Given the description of an element on the screen output the (x, y) to click on. 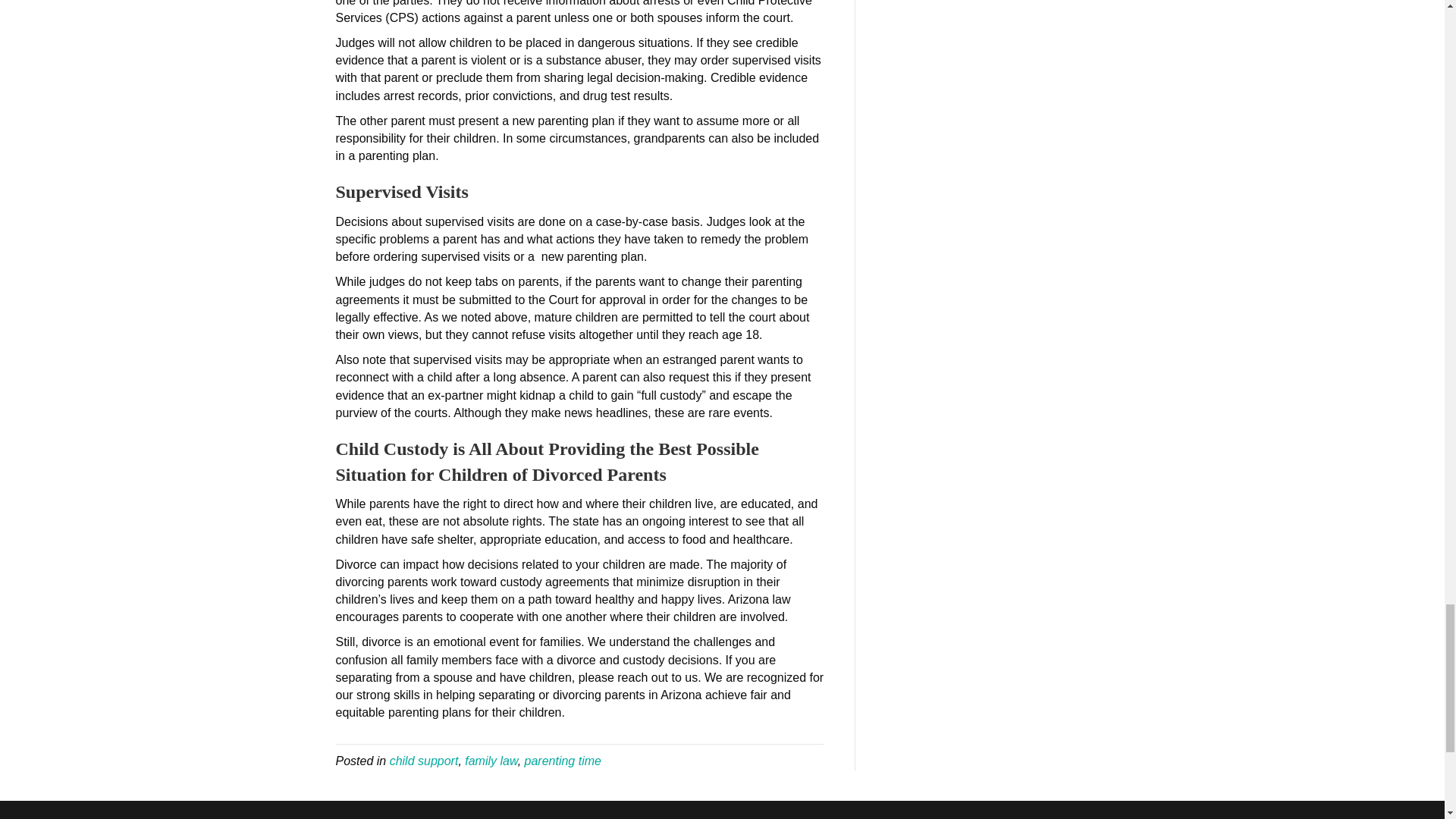
parenting time (562, 760)
family law (490, 760)
child support (424, 760)
